Given the description of an element on the screen output the (x, y) to click on. 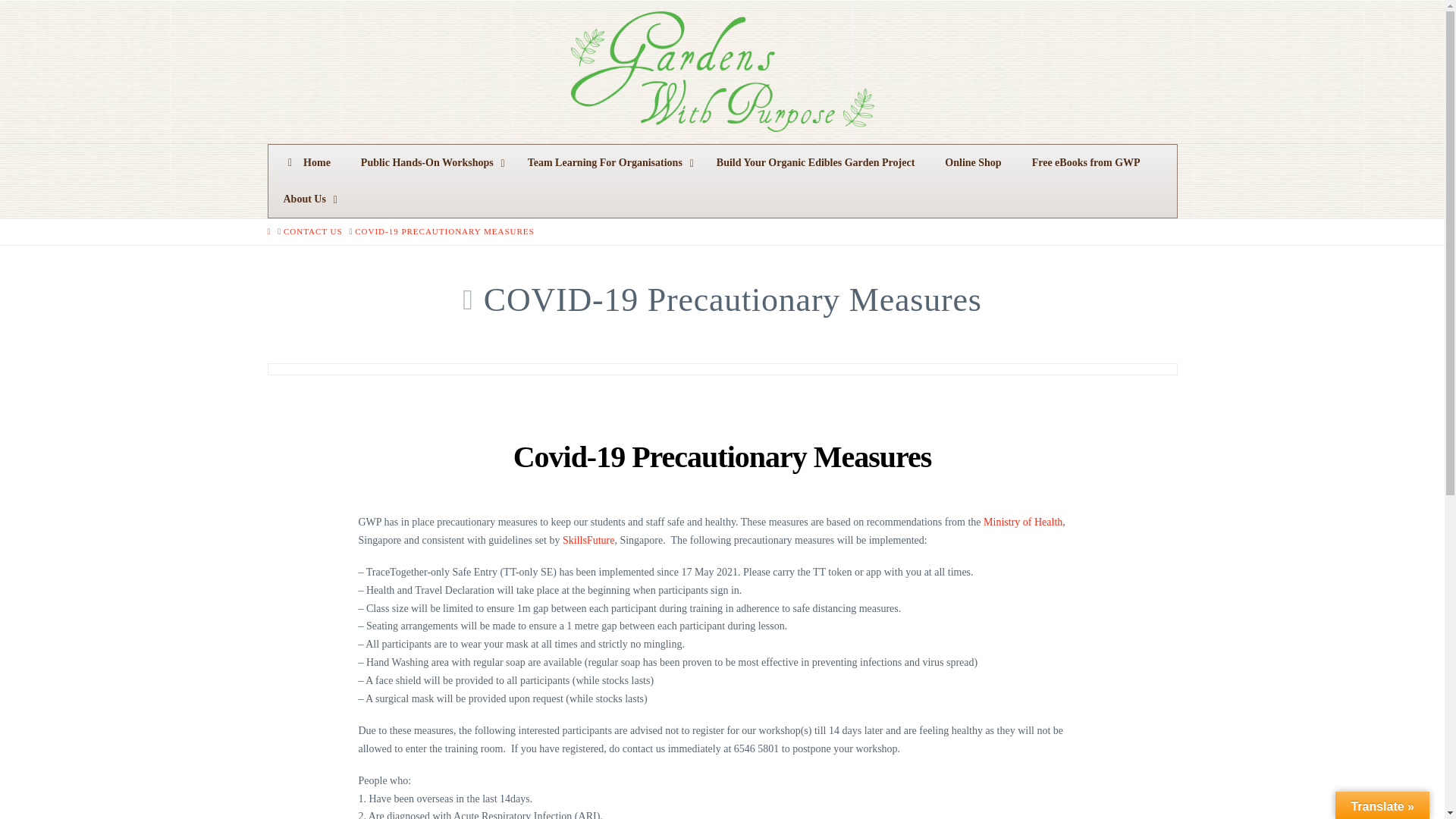
About Us (306, 198)
Build Your Organic Edibles Garden Project (815, 162)
COVID-19 PRECAUTIONARY MEASURES (444, 231)
Public Hands-On Workshops (429, 162)
Ministry of Health (1023, 521)
Home (306, 162)
CONTACT US (312, 231)
Team Learning For Organisations (606, 162)
You Are Here (444, 231)
